Given the description of an element on the screen output the (x, y) to click on. 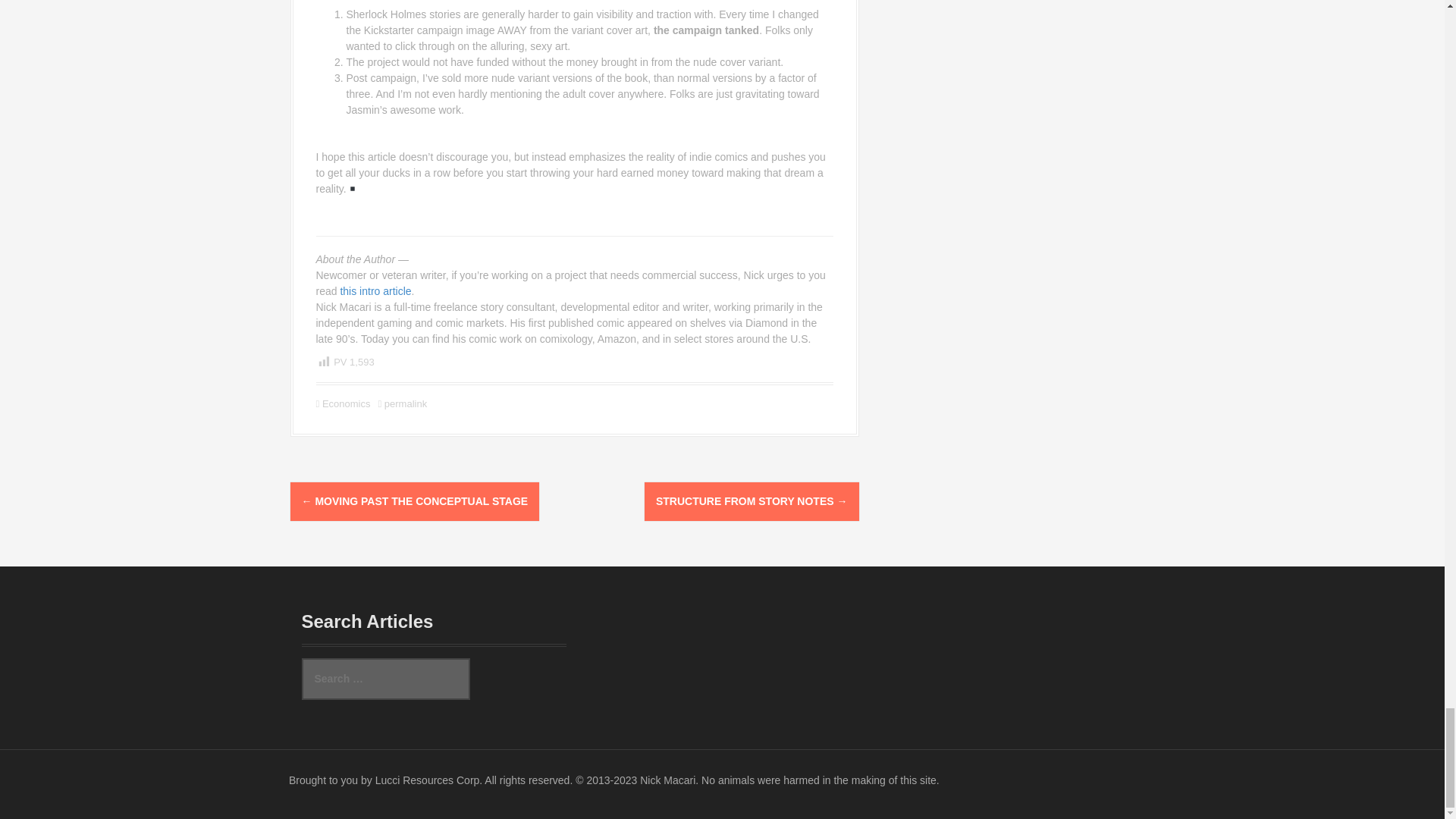
Economics (346, 403)
this intro article (374, 291)
Search for: (385, 679)
permalink (403, 403)
